Given the description of an element on the screen output the (x, y) to click on. 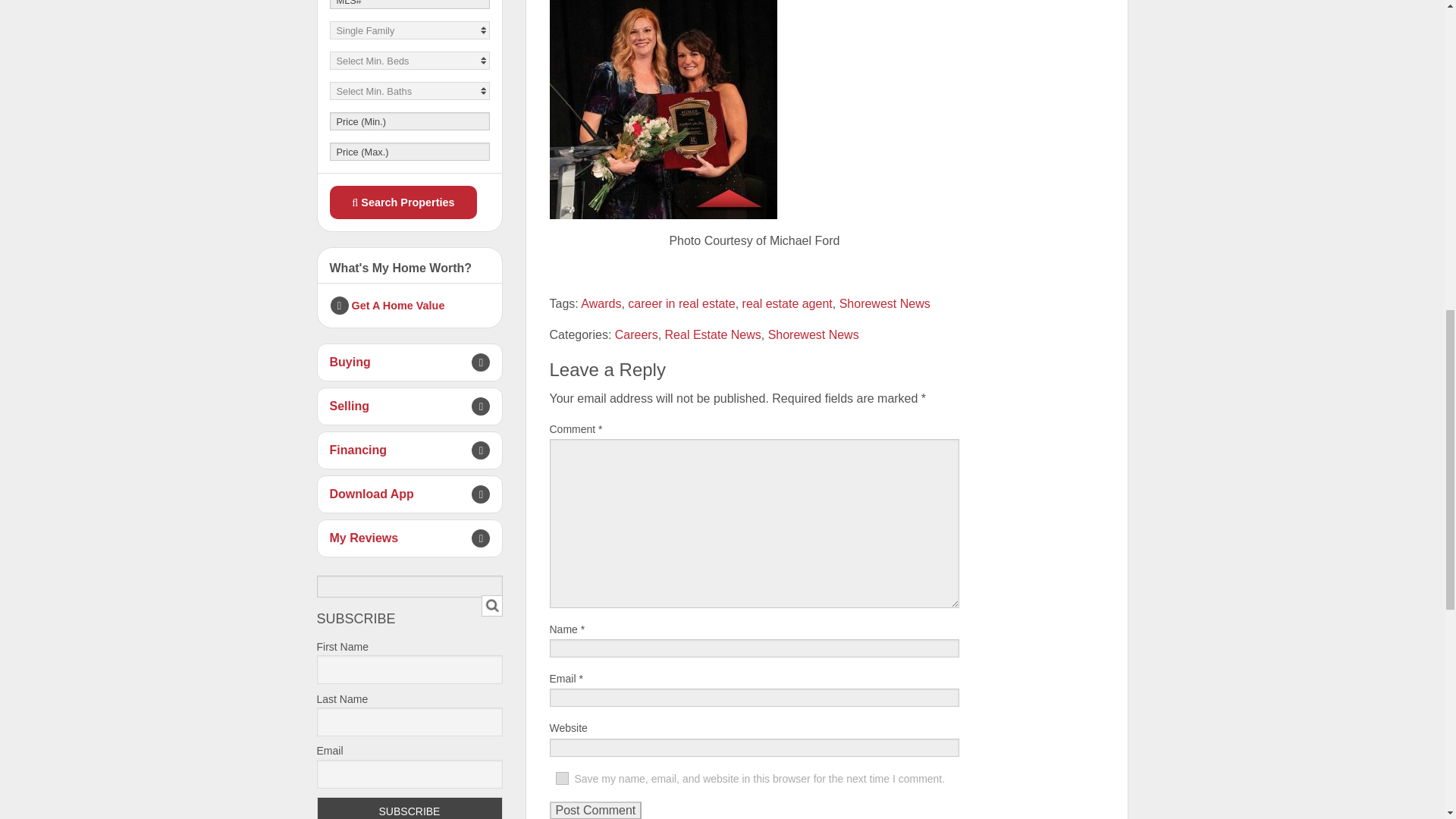
real estate agent (787, 303)
Shorewest News (885, 303)
Post Comment (595, 810)
Awards (600, 303)
career in real estate (681, 303)
Real Estate News (713, 334)
Post Comment (595, 810)
SUBSCRIBE (409, 807)
Search (491, 604)
Careers (636, 334)
Shorewest News (813, 334)
